Given the description of an element on the screen output the (x, y) to click on. 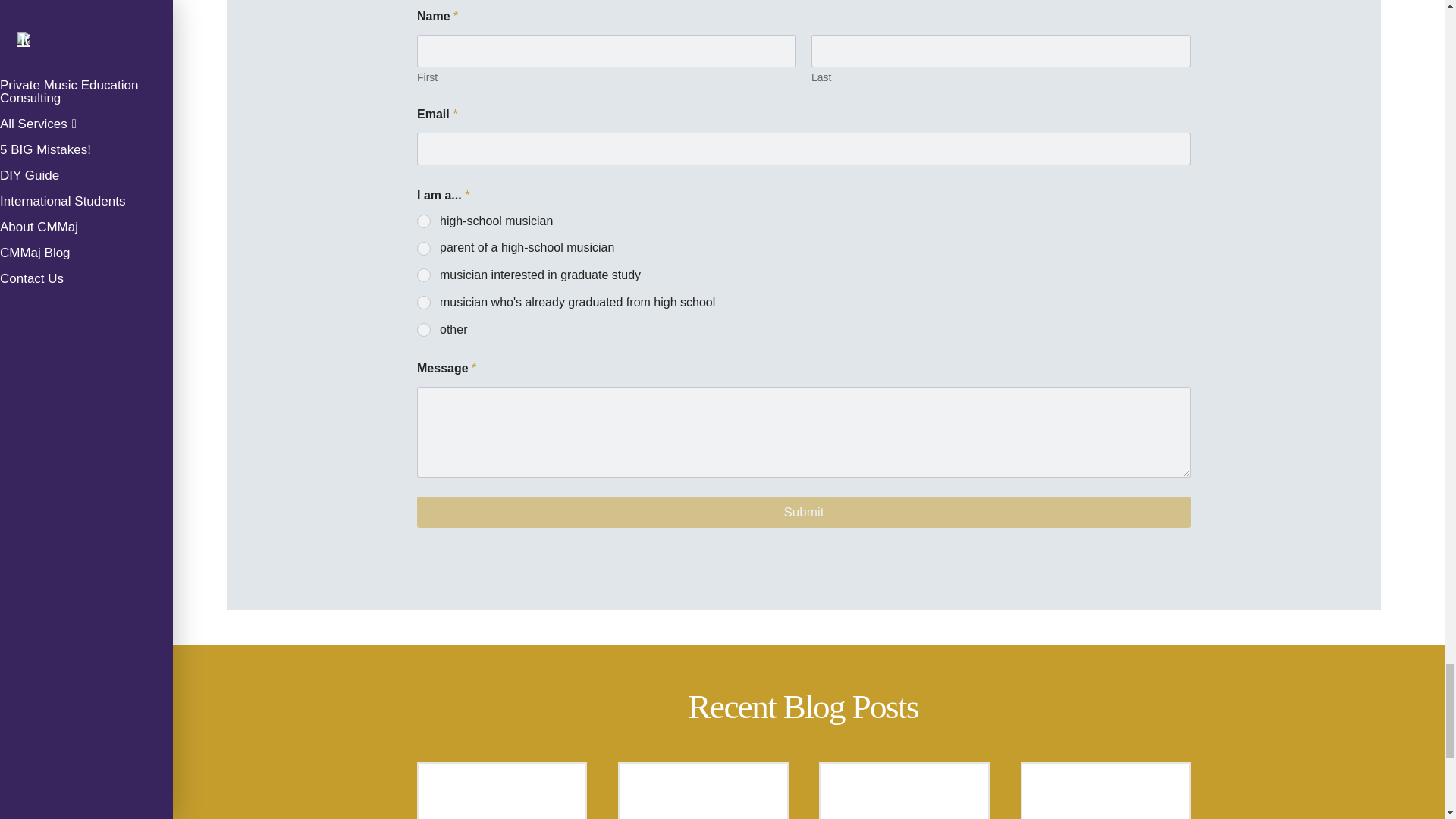
parent of a high-school musician (424, 249)
musician interested in graduate study (424, 275)
musician who's already graduated from high school (424, 303)
other (424, 330)
Permalink to: "All About Music School Admissions" (702, 790)
high-school musician (424, 222)
